Given the description of an element on the screen output the (x, y) to click on. 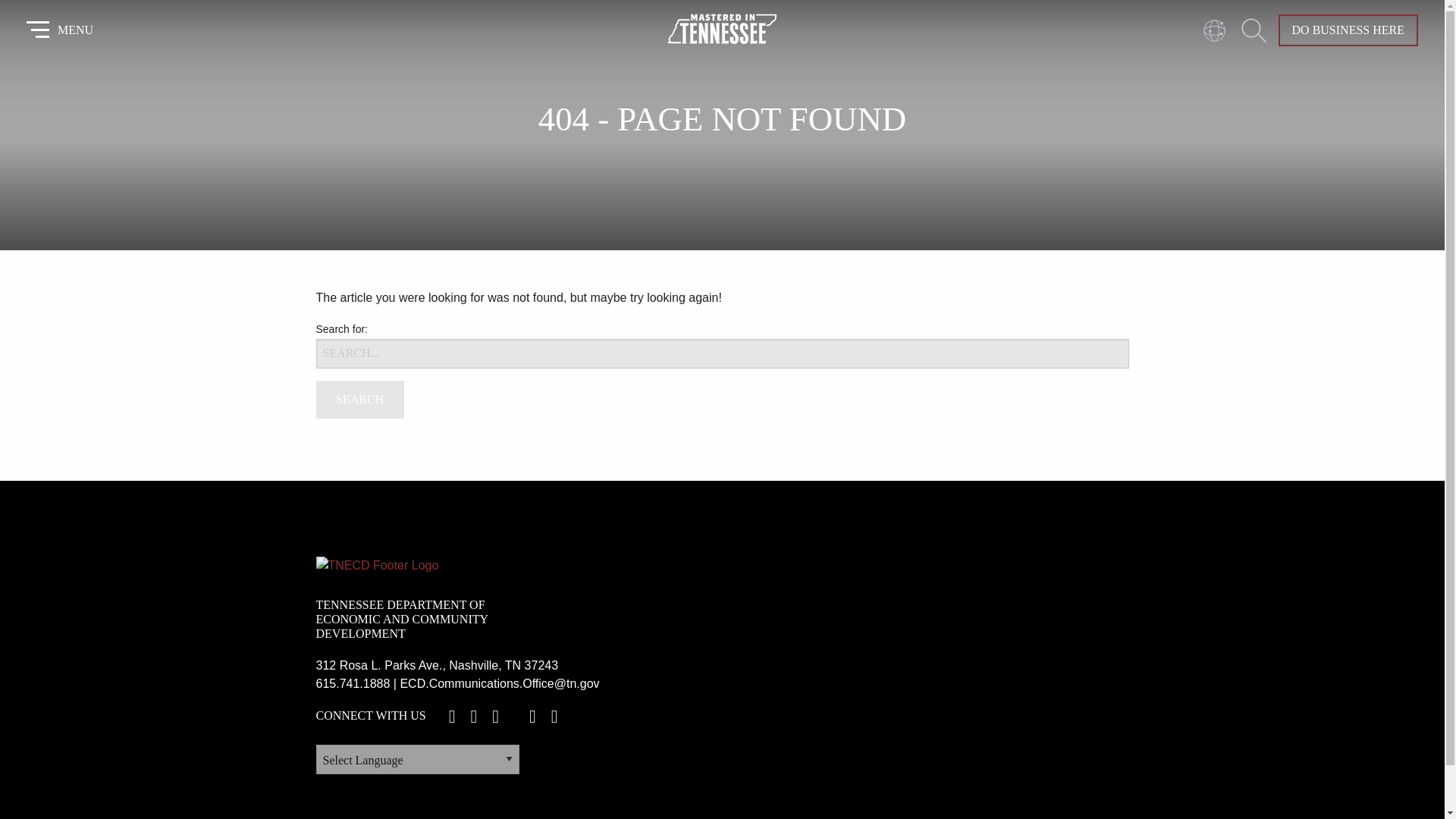
Search (359, 399)
Search (359, 399)
Search for: (721, 353)
